Given the description of an element on the screen output the (x, y) to click on. 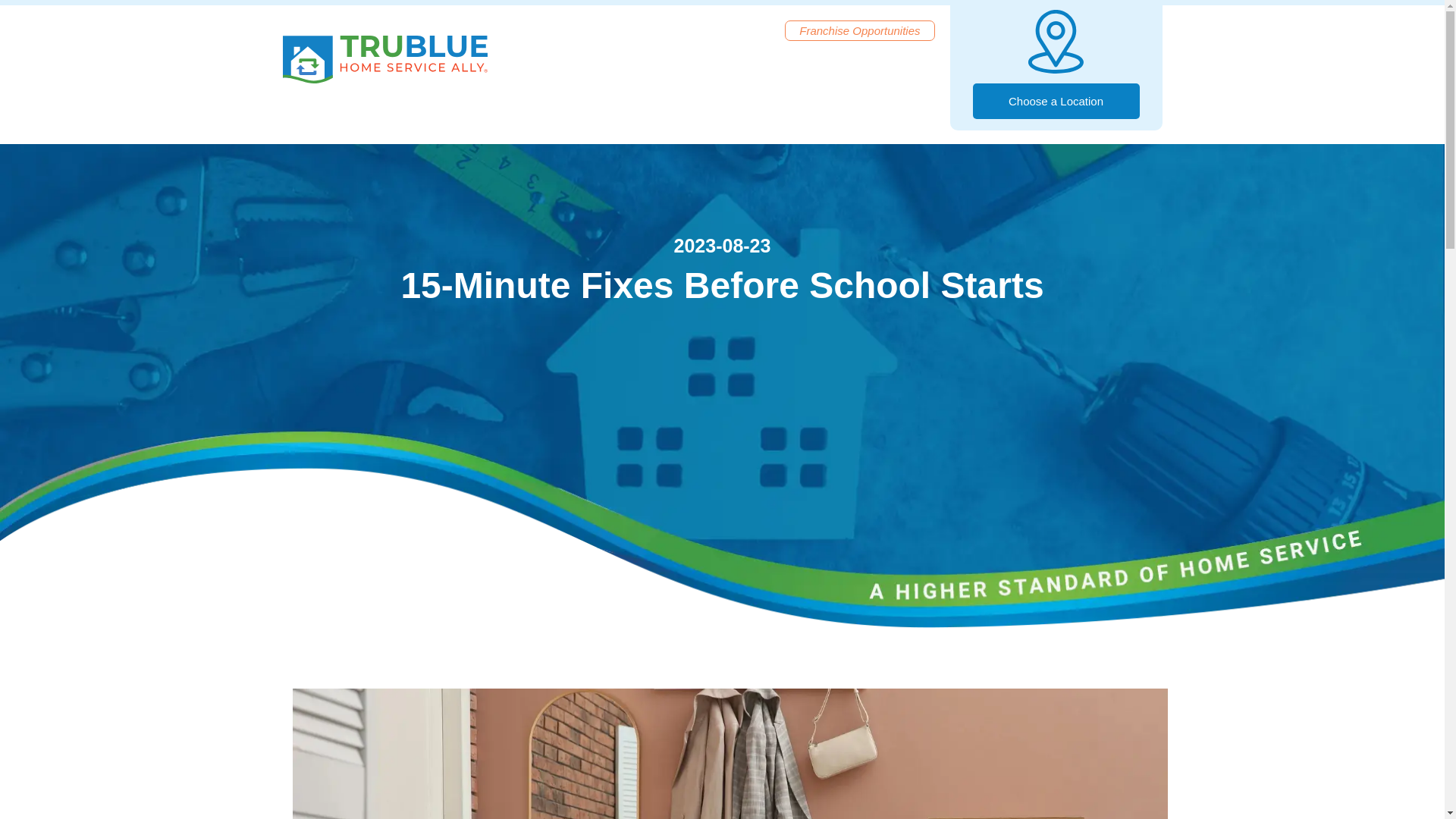
Franchise Opportunities (859, 30)
Choose a Location (1055, 100)
